Given the description of an element on the screen output the (x, y) to click on. 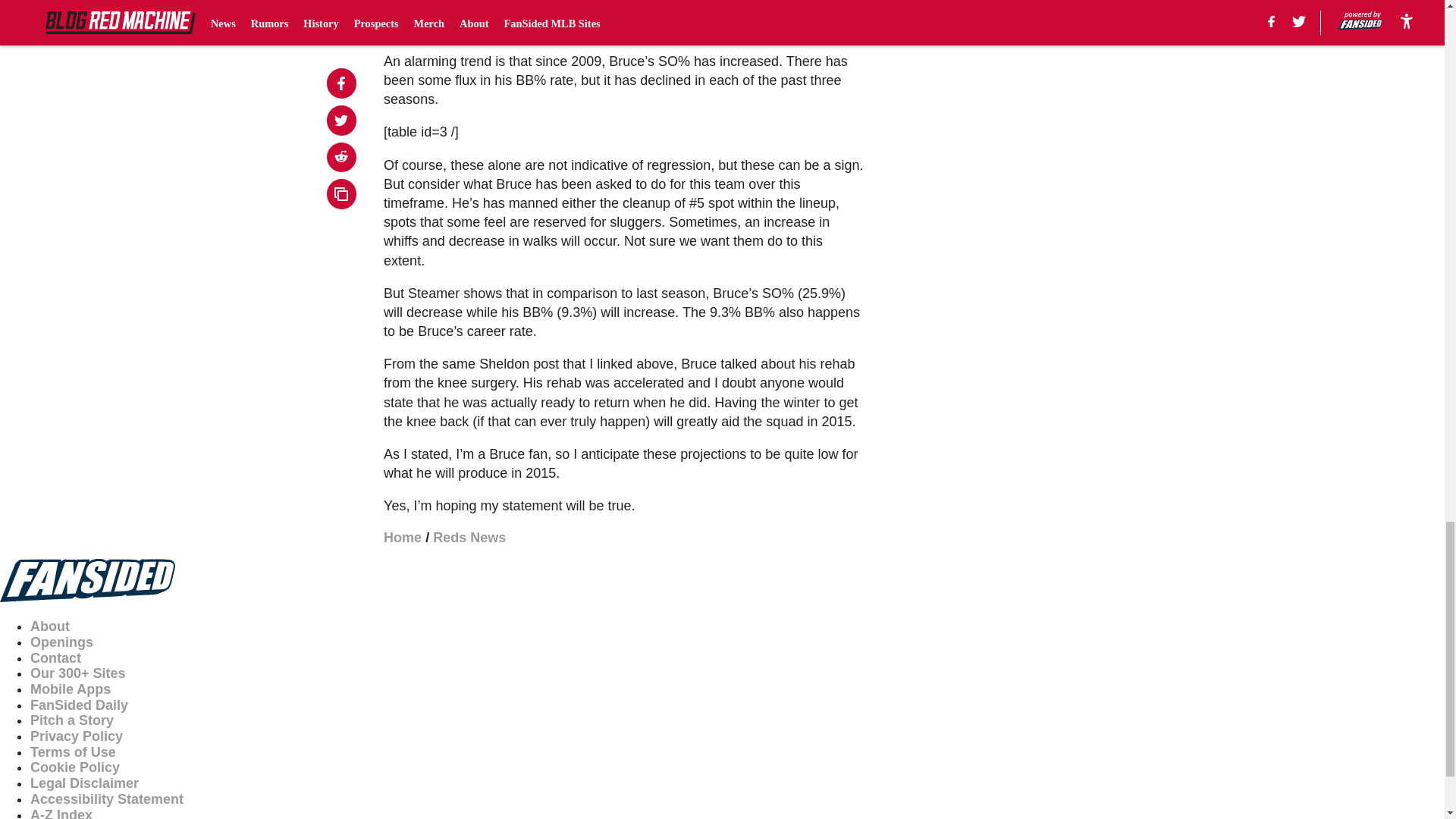
Openings (61, 642)
Privacy Policy (76, 735)
Pitch a Story (71, 720)
Home (403, 537)
Reds News (468, 537)
Contact (55, 657)
Mobile Apps (70, 688)
About (49, 626)
FanSided Daily (79, 704)
Terms of Use (73, 752)
